Given the description of an element on the screen output the (x, y) to click on. 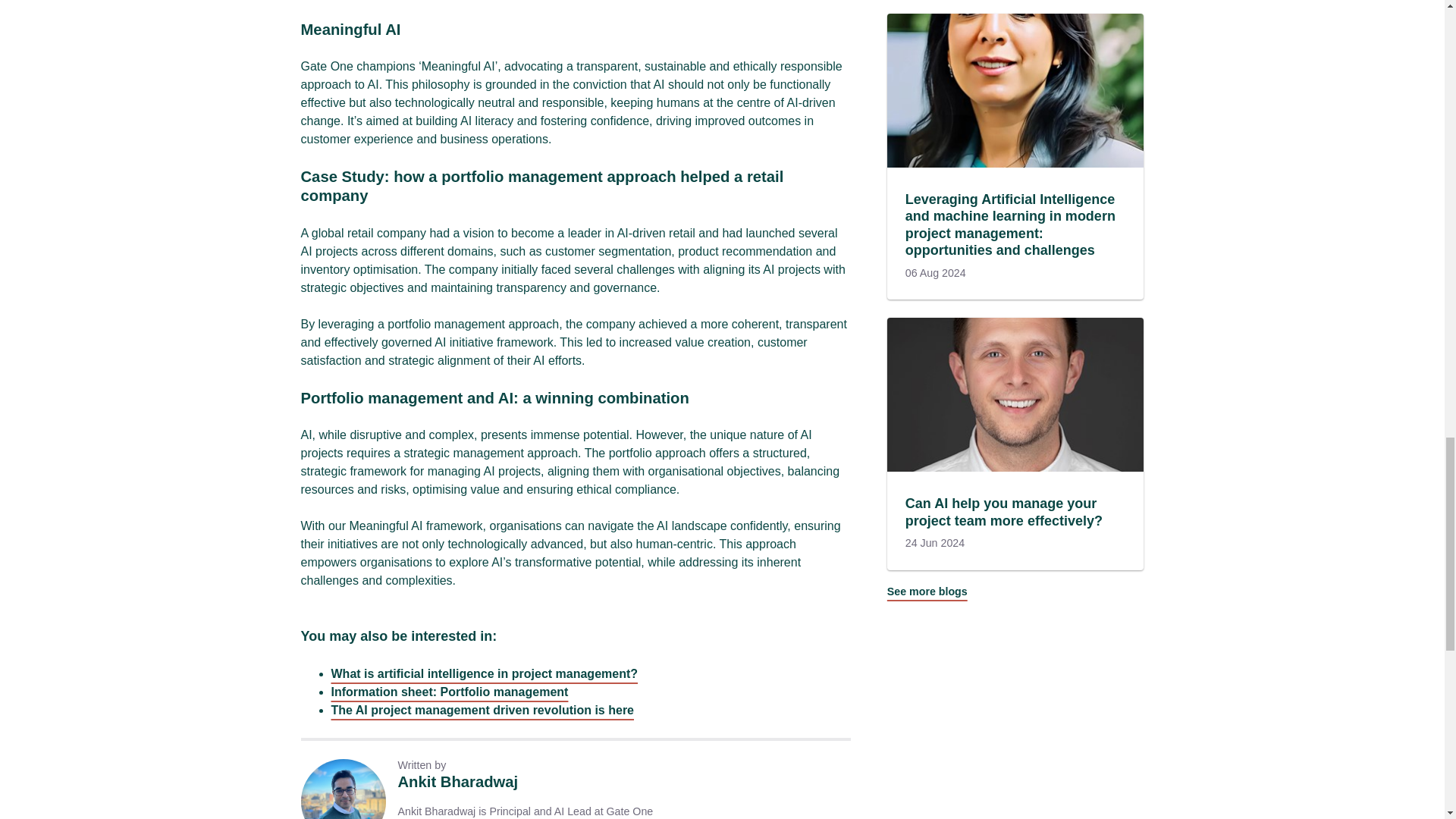
What is artificial intelligence in project management? (483, 673)
The AI project management driven revolution is here (481, 709)
Information sheet: Portfolio management (448, 691)
